Given the description of an element on the screen output the (x, y) to click on. 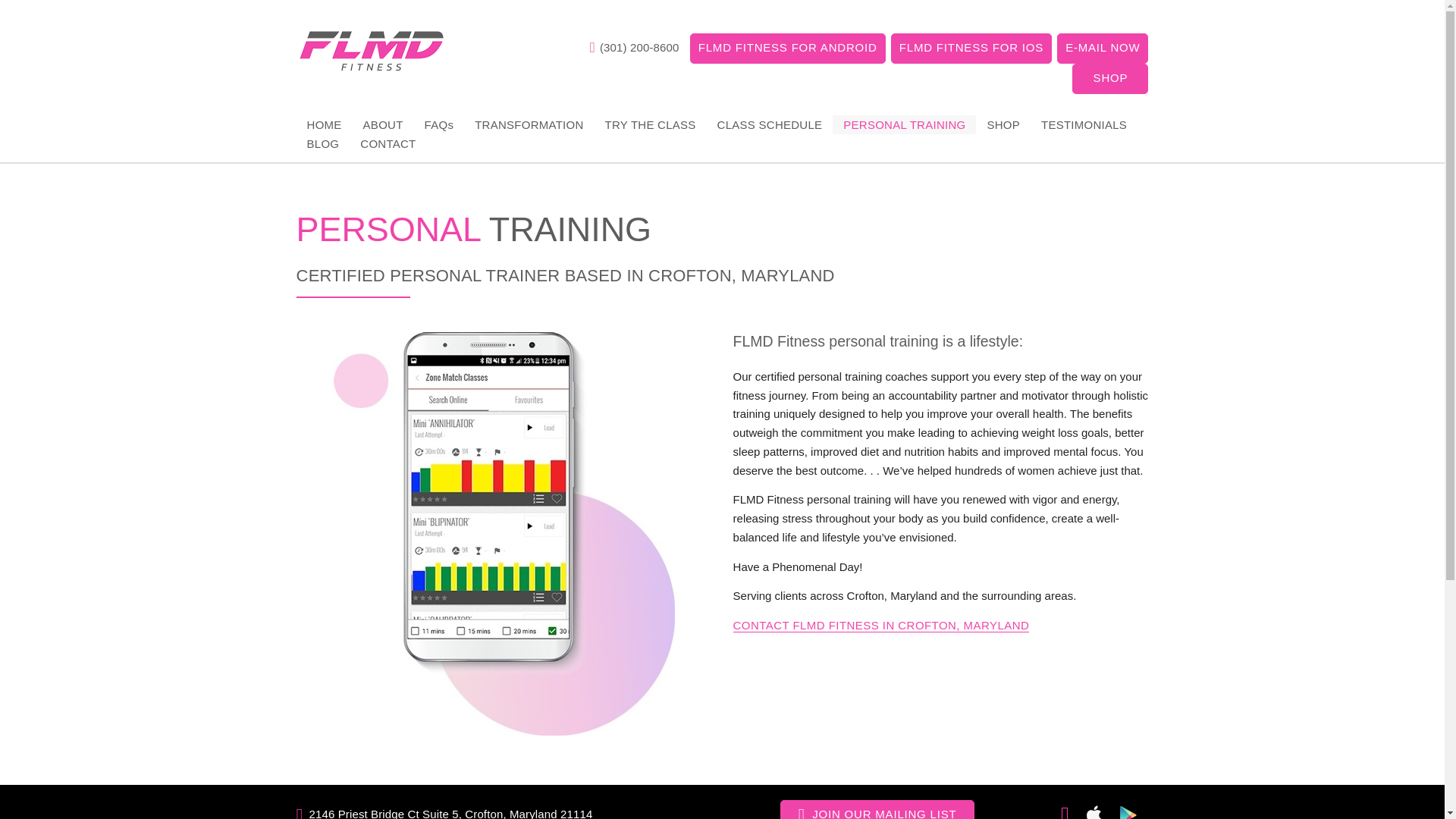
CLASS SCHEDULE (769, 124)
FAQs (438, 124)
FLMD FITNESS FOR ANDROID (787, 48)
FLMD FITNESS FOR IOS (971, 48)
ABOUT (382, 124)
TRANSFORMATION (529, 124)
SHOP (1109, 78)
HOME (324, 124)
E-MAIL NOW (1102, 48)
TRY THE CLASS (650, 124)
